Given the description of an element on the screen output the (x, y) to click on. 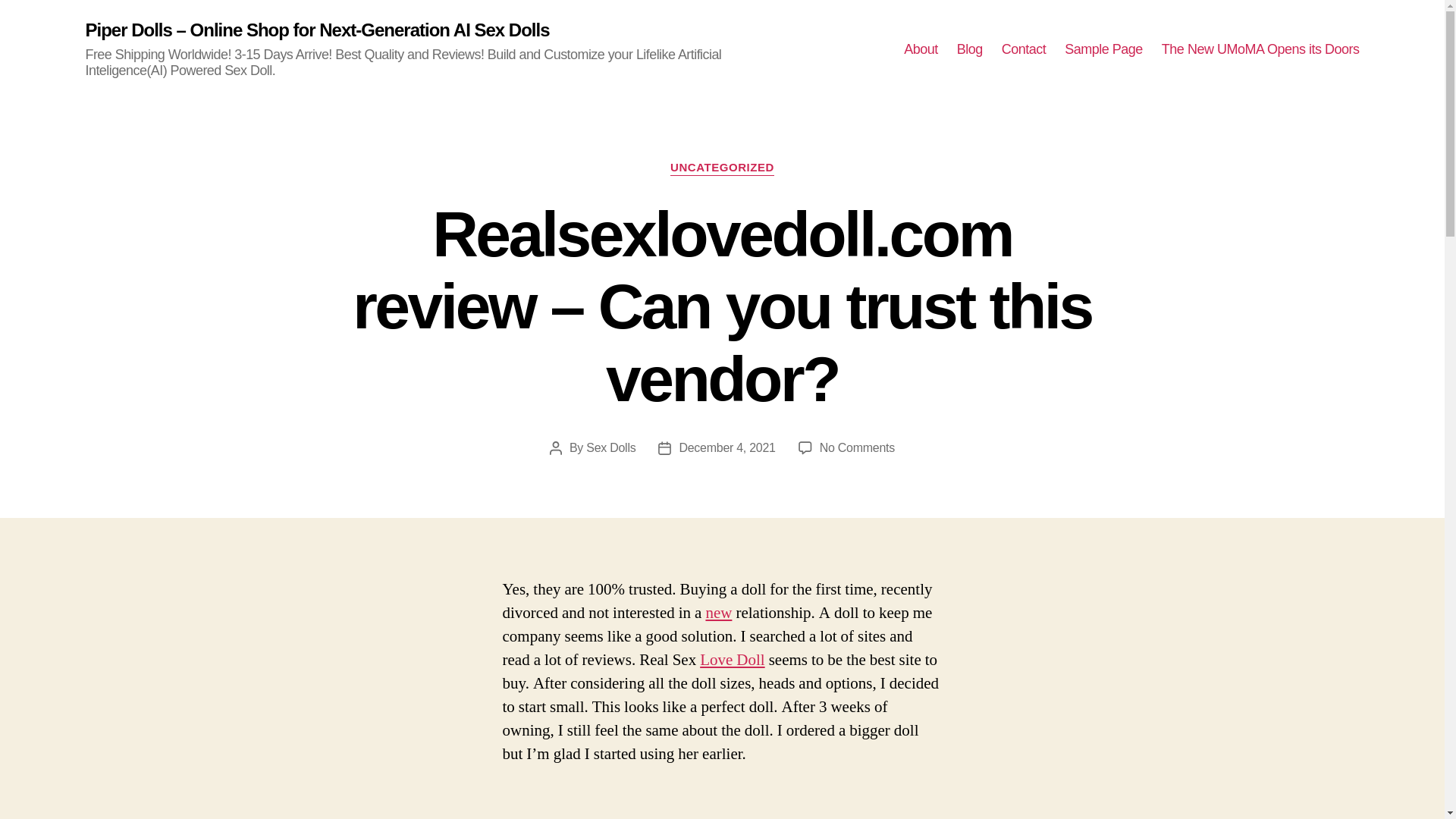
The New UMoMA Opens its Doors (1260, 49)
Sample Page (1103, 49)
UNCATEGORIZED (721, 168)
Contact (1023, 49)
Blog (969, 49)
About (920, 49)
Sex Dolls (610, 447)
Love Doll (732, 660)
new (718, 612)
December 4, 2021 (726, 447)
